Given the description of an element on the screen output the (x, y) to click on. 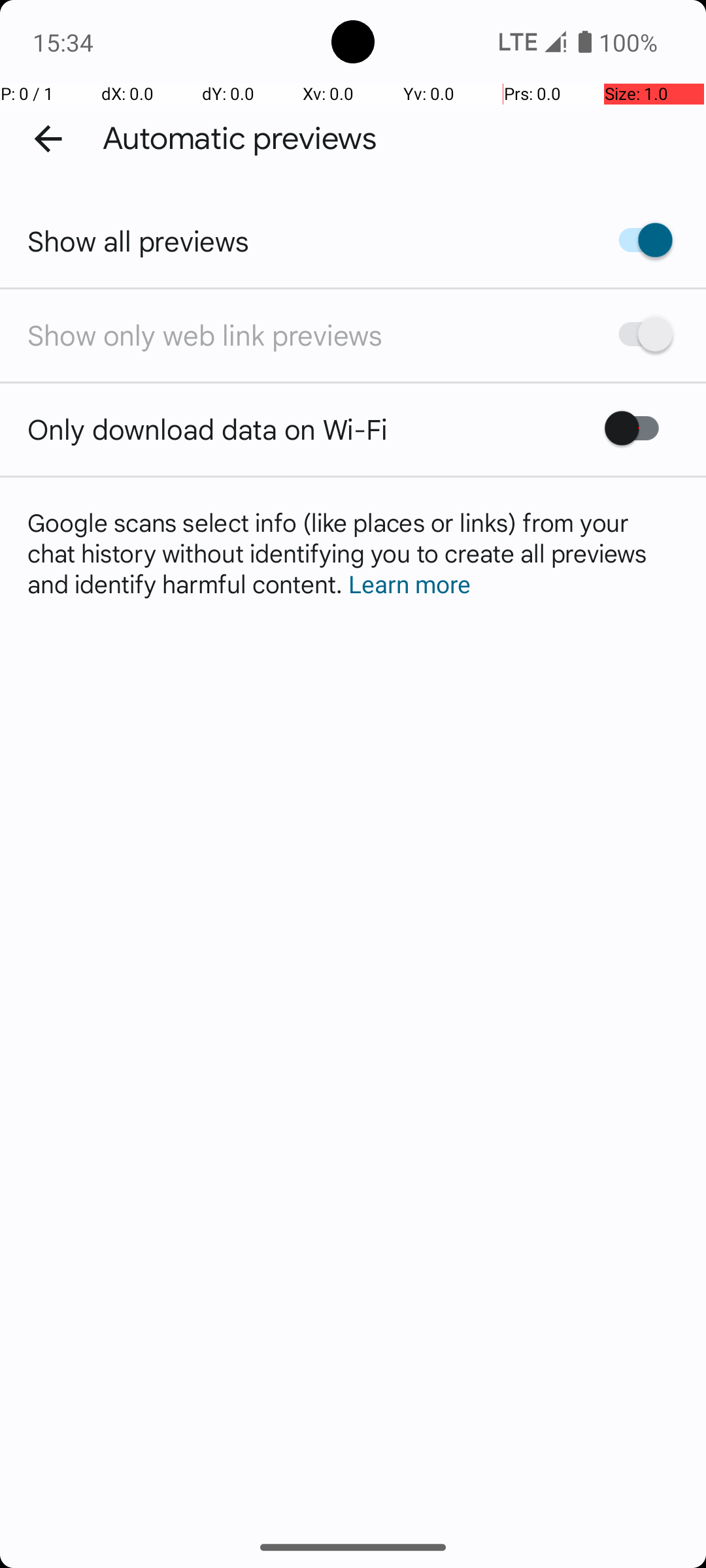
Automatic previews Element type: android.widget.TextView (239, 138)
Google scans select info (like places or links) from your chat history without identifying you to create all previews and identify harmful content. Learn more Element type: android.widget.TextView (353, 552)
Show all previews Element type: android.widget.TextView (138, 240)
Show only web link previews Element type: android.widget.TextView (205, 334)
Only download data on Wi-Fi Element type: android.widget.TextView (207, 428)
